Given the description of an element on the screen output the (x, y) to click on. 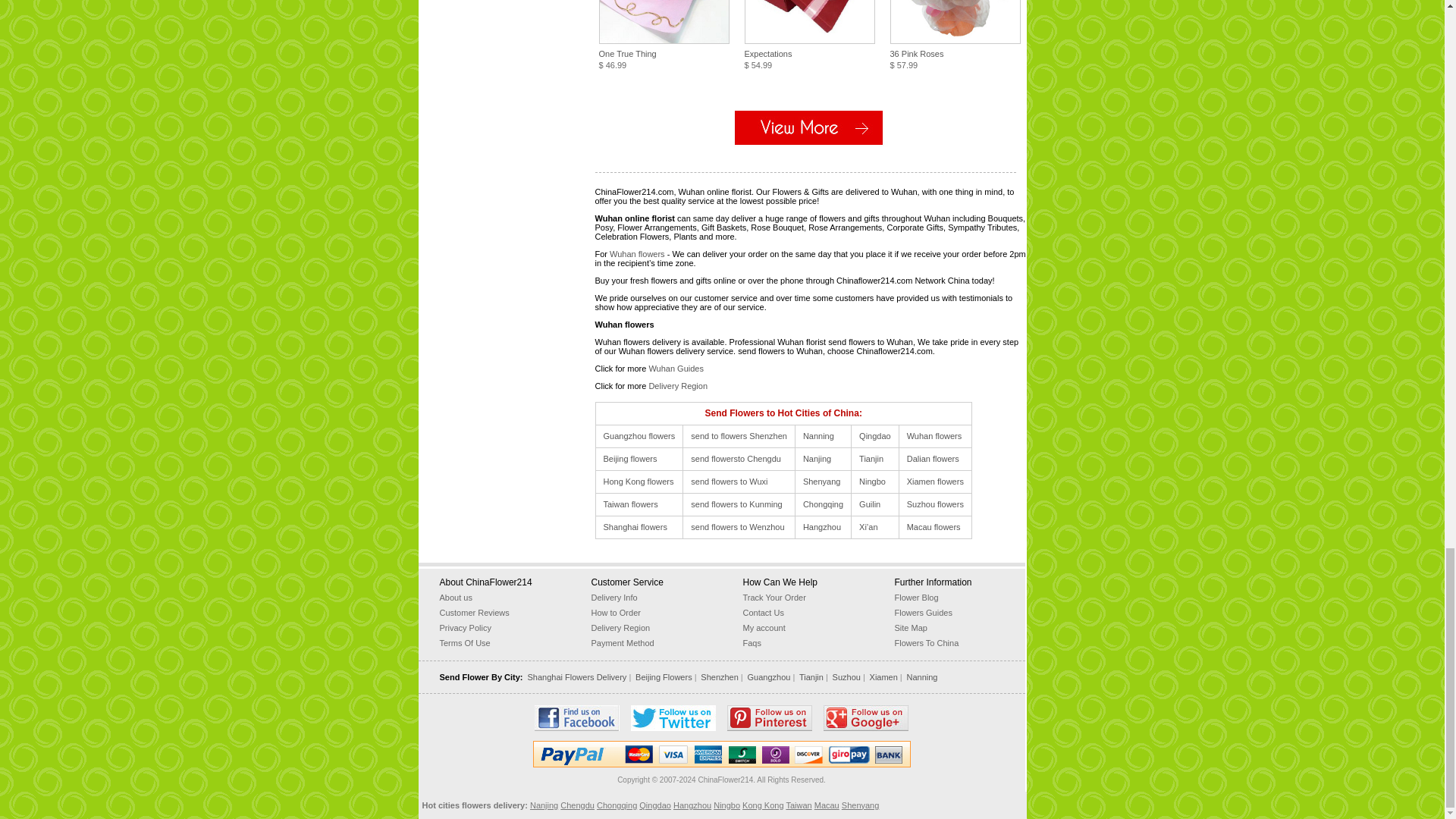
Hangzhou flowers delivery (691, 804)
Kong Kong flowers delivery (762, 804)
Qingdao flowers delivery (655, 804)
Tianjin florist (871, 458)
Chengdu flowers delivery (577, 804)
Ningbo florist (872, 481)
Taiwan flowers delivery (798, 804)
Chongqing flowers (823, 503)
Ningbo flowers delivery (726, 804)
Hangzhou flowers (822, 526)
